Given the description of an element on the screen output the (x, y) to click on. 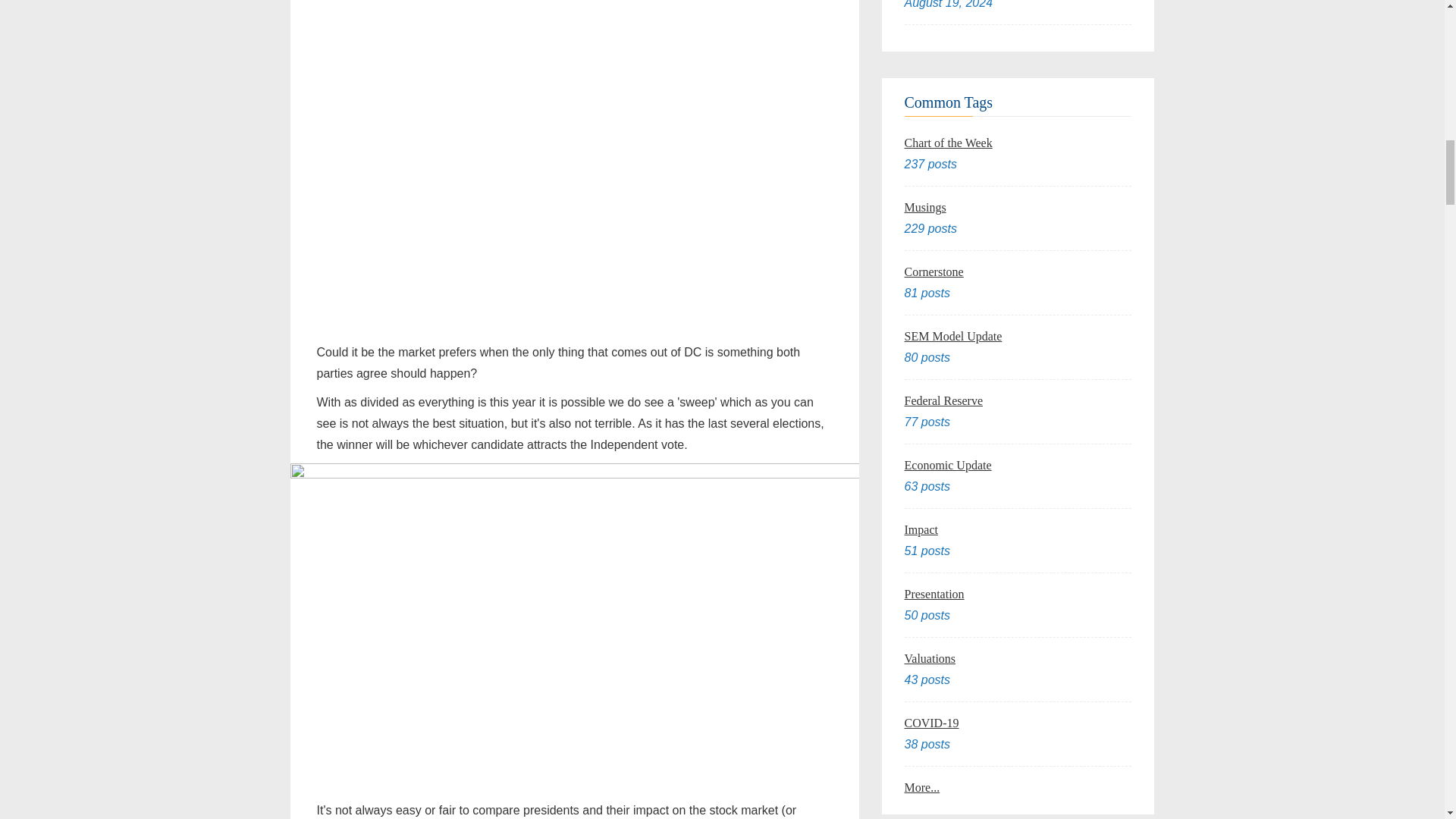
Federal Reserve (943, 400)
Chart of the Week (947, 142)
SEM Model Update (952, 336)
Cornerstone (933, 271)
Musings (924, 206)
